Given the description of an element on the screen output the (x, y) to click on. 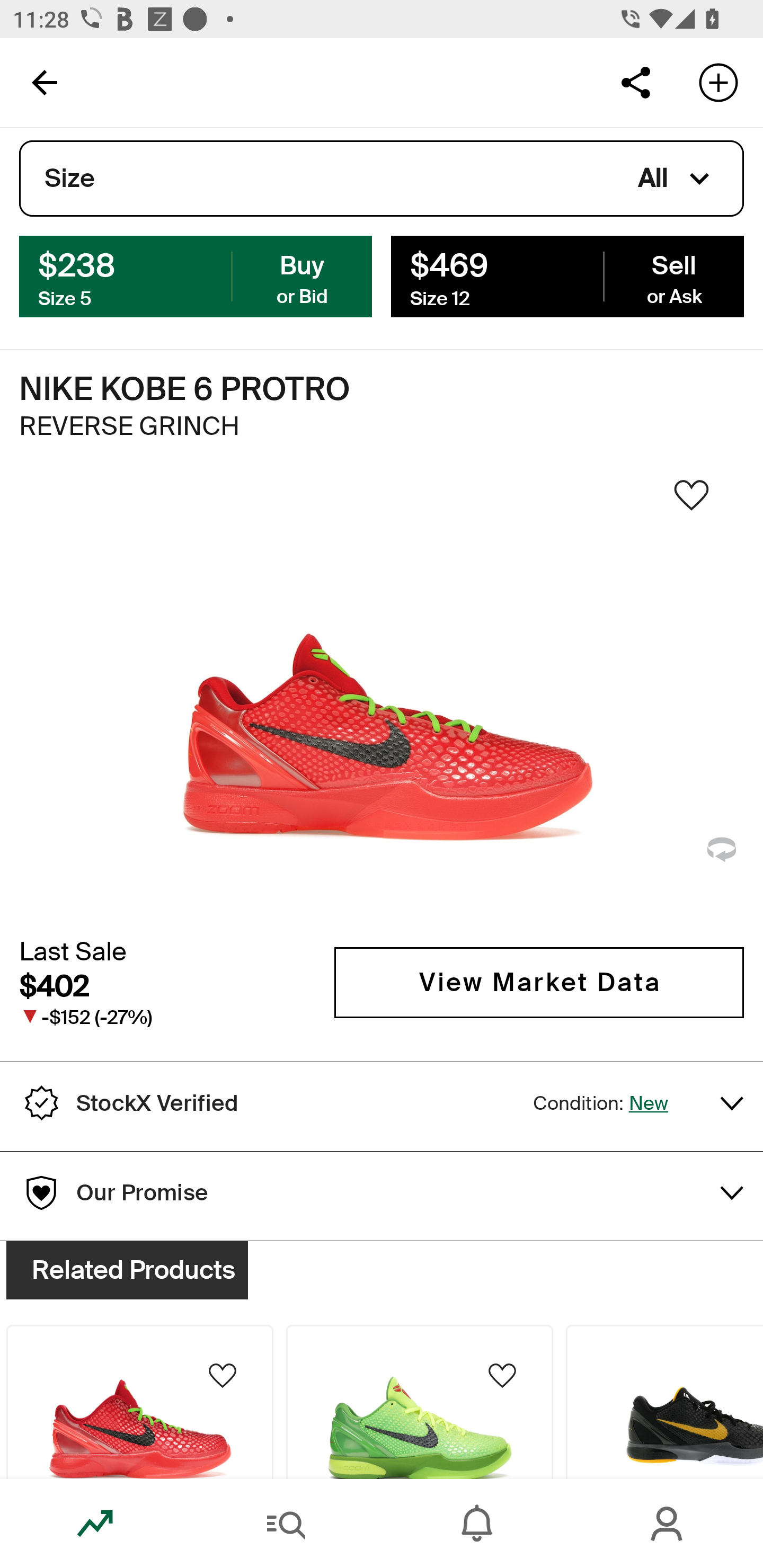
Share (635, 81)
Add (718, 81)
Size All (381, 178)
$238 Buy Size 5 or Bid (195, 275)
$469 Sell Size 12 or Ask (566, 275)
Sneaker Image (381, 699)
View Market Data (538, 982)
Product Image (139, 1401)
Product Image (419, 1401)
Product Image (664, 1401)
Search (285, 1523)
Inbox (476, 1523)
Account (667, 1523)
